Given the description of an element on the screen output the (x, y) to click on. 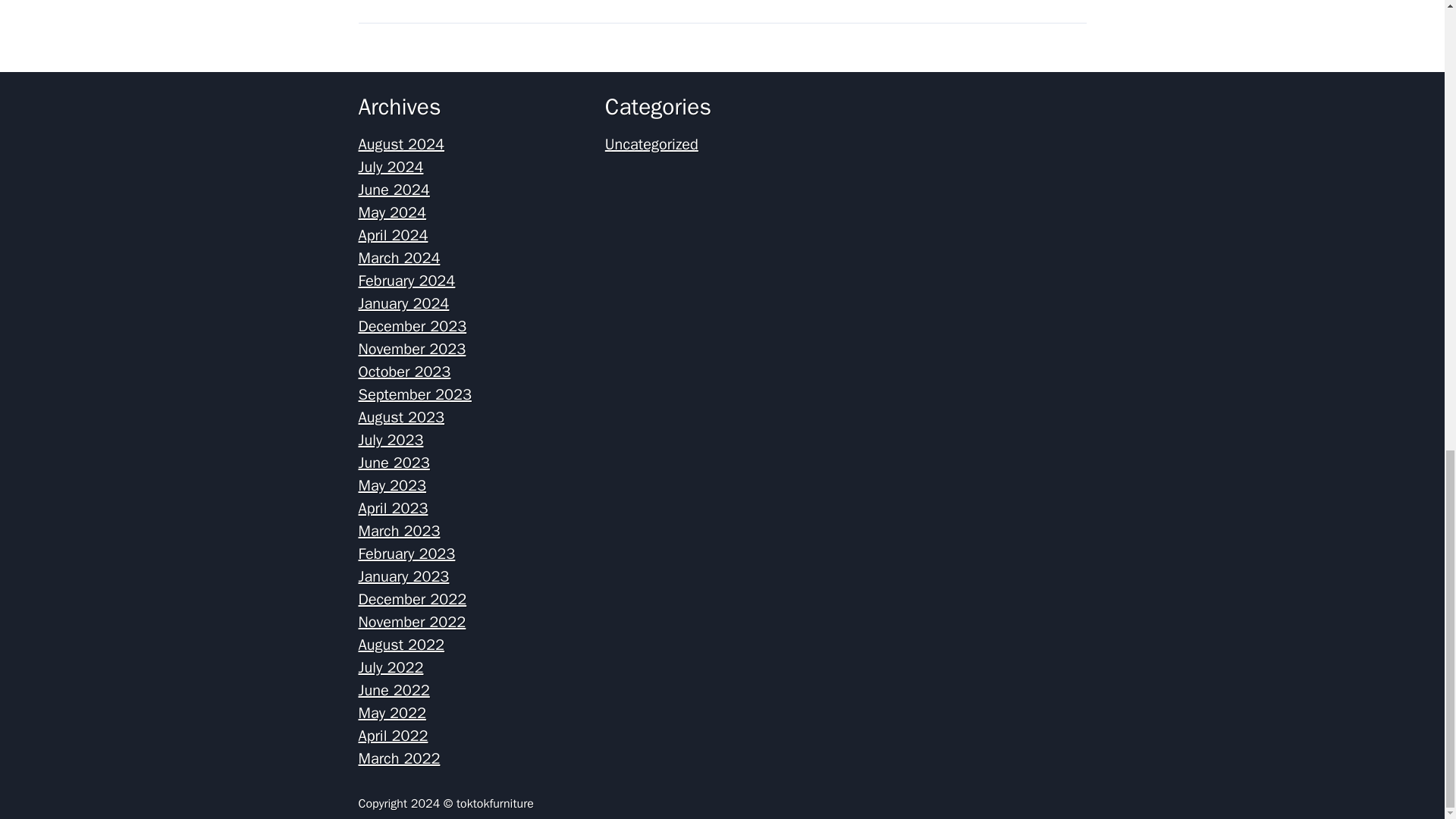
May 2022 (392, 712)
November 2023 (411, 348)
July 2024 (390, 167)
June 2023 (393, 462)
May 2023 (392, 485)
December 2023 (411, 325)
August 2022 (401, 644)
June 2022 (393, 690)
April 2024 (393, 235)
August 2024 (401, 144)
